Given the description of an element on the screen output the (x, y) to click on. 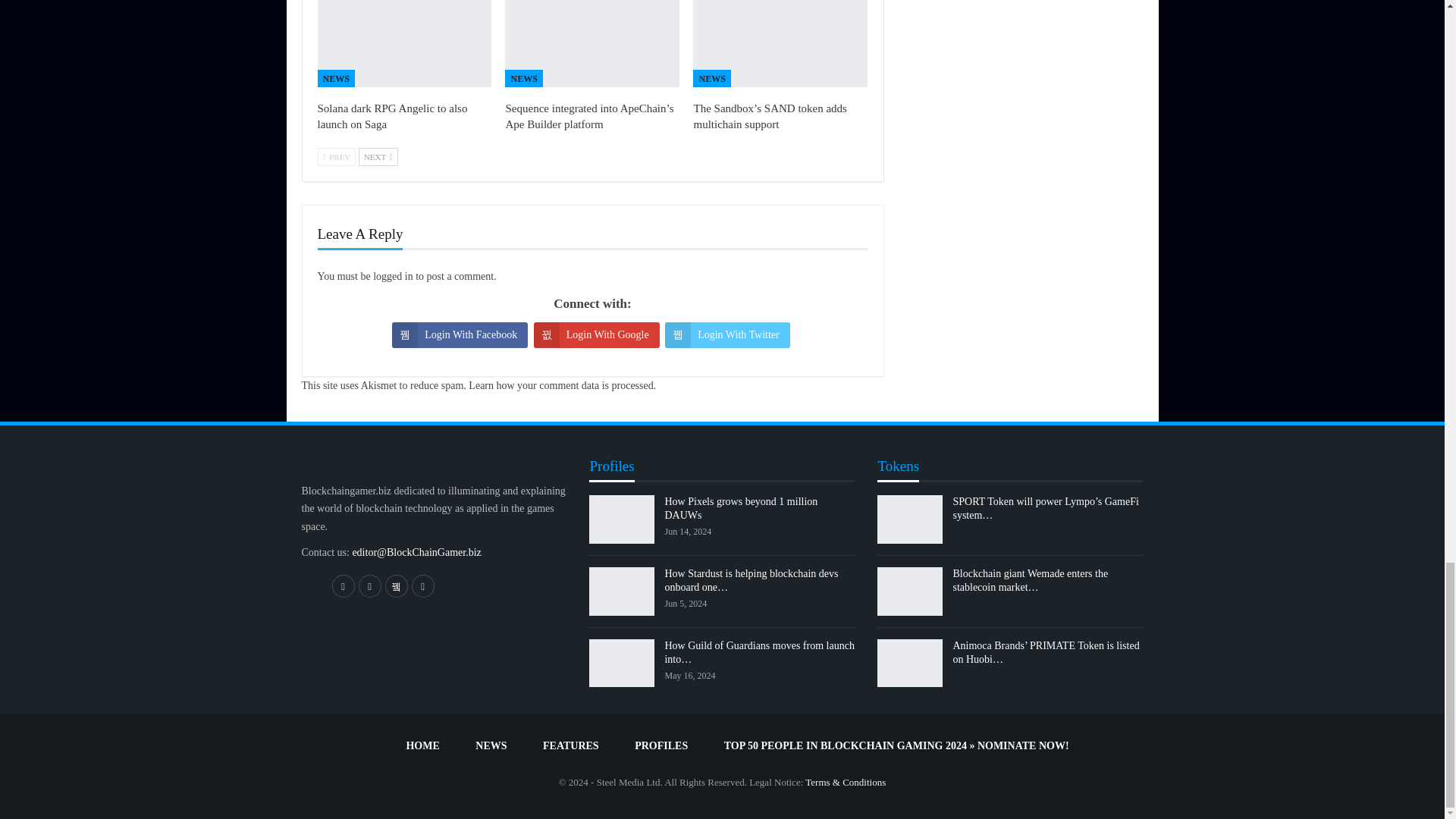
Solana dark RPG Angelic to also launch on Saga (404, 43)
Solana dark RPG Angelic to also launch on Saga (392, 116)
NEWS (335, 77)
Next (377, 157)
NEWS (523, 77)
Previous (336, 157)
Solana dark RPG Angelic to also launch on Saga (392, 116)
